Given the description of an element on the screen output the (x, y) to click on. 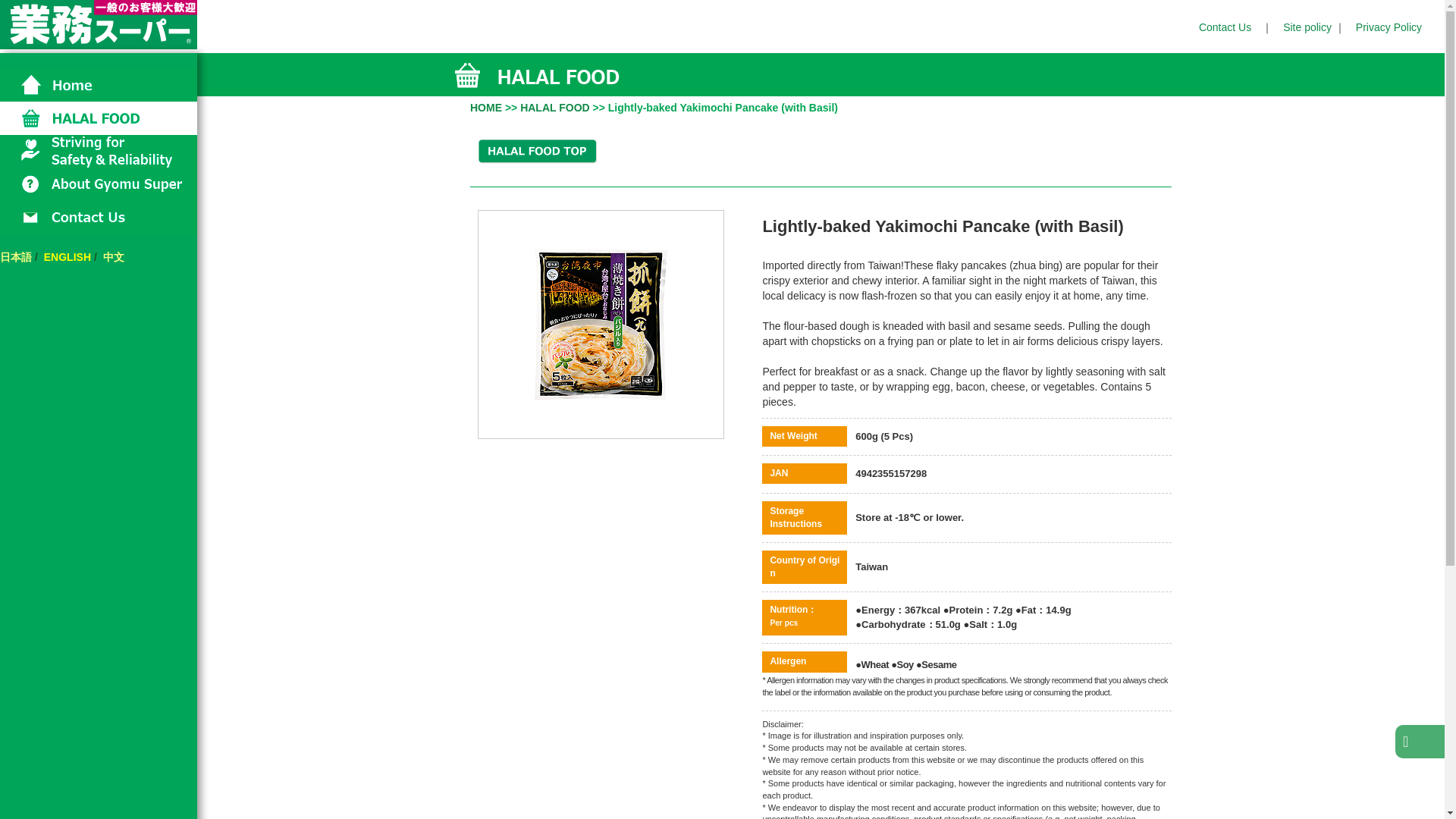
Contact Us (98, 218)
HOME (486, 107)
Contact Us (1224, 27)
Site policy (1307, 27)
HALAL FOOD (98, 118)
ENGLISH (66, 256)
Privacy Policy (1388, 27)
About Gyomu Super (98, 184)
HALAL FOOD (554, 107)
